Given the description of an element on the screen output the (x, y) to click on. 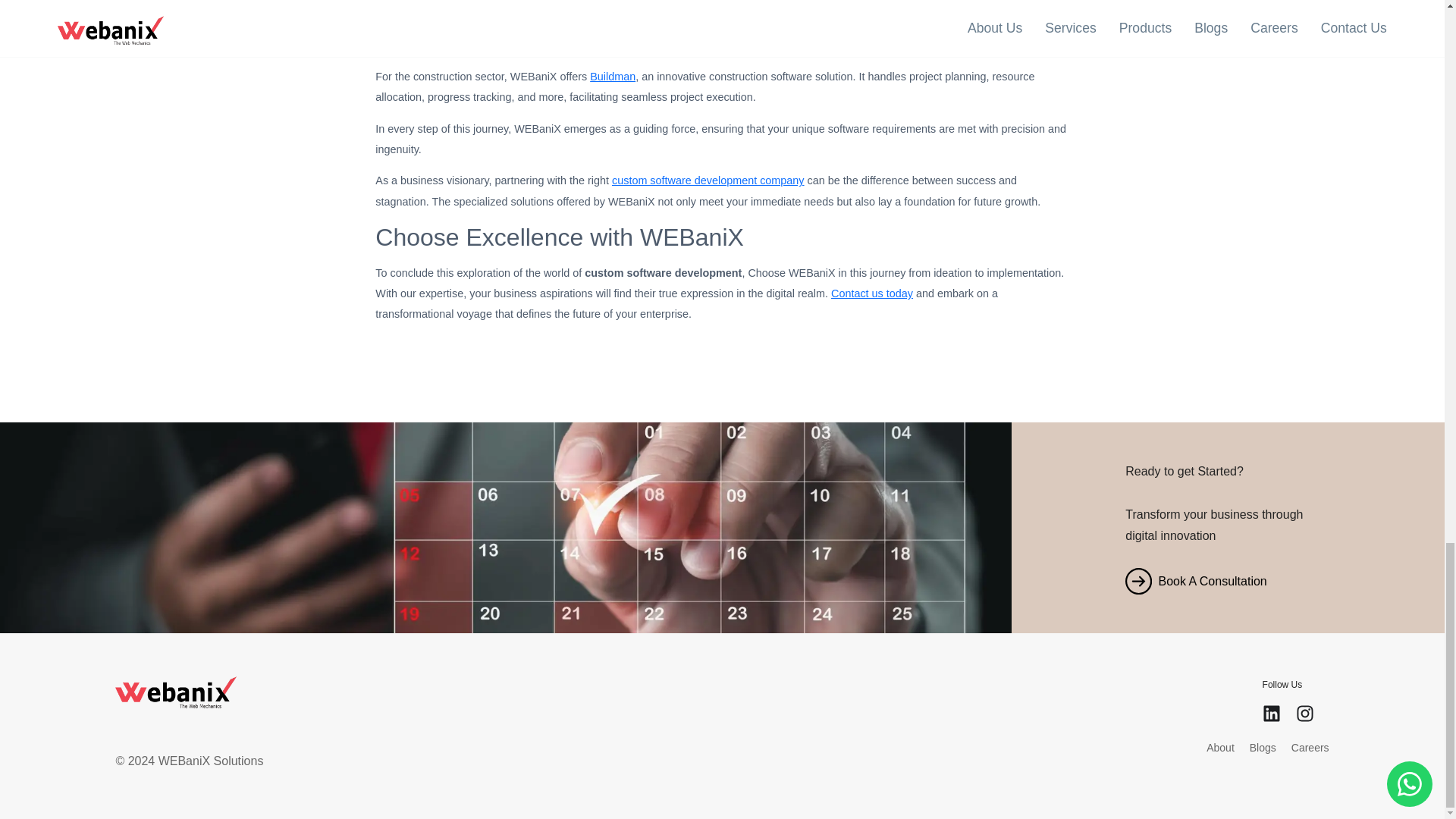
Buildman (611, 76)
Book A Consultation (1227, 581)
custom software development company (708, 180)
Contact us today (871, 293)
Careers (1310, 761)
